Given the description of an element on the screen output the (x, y) to click on. 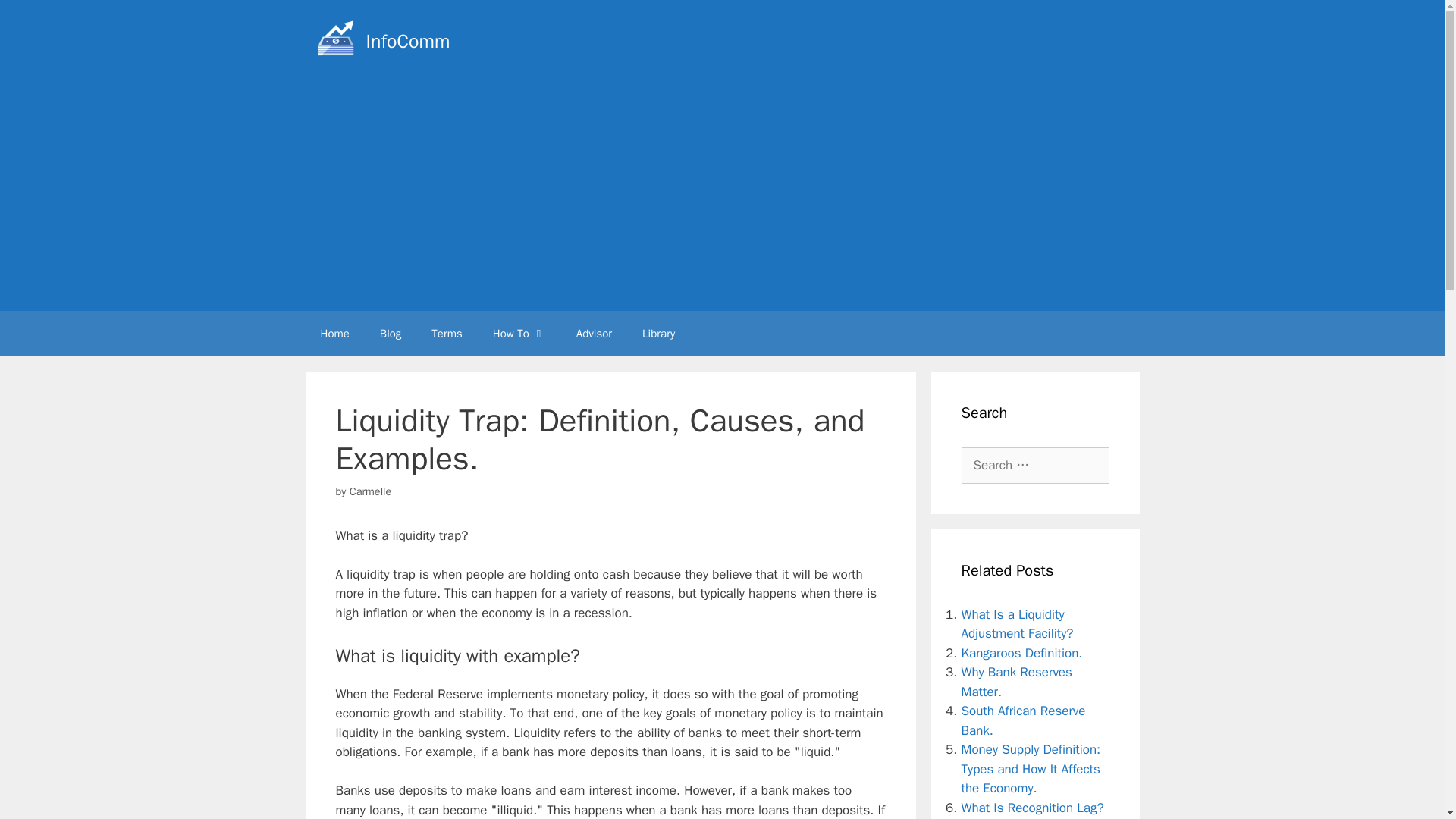
Blog (390, 333)
Terms (446, 333)
What Is Recognition Lag? (1031, 806)
How To (518, 333)
Search (35, 18)
Why Bank Reserves Matter. (1015, 682)
Home (334, 333)
Carmelle (370, 490)
View all posts by Carmelle (370, 490)
Kangaroos Definition. (1021, 652)
Search for: (1034, 465)
Advisor (593, 333)
South African Reserve Bank. (1023, 720)
